Given the description of an element on the screen output the (x, y) to click on. 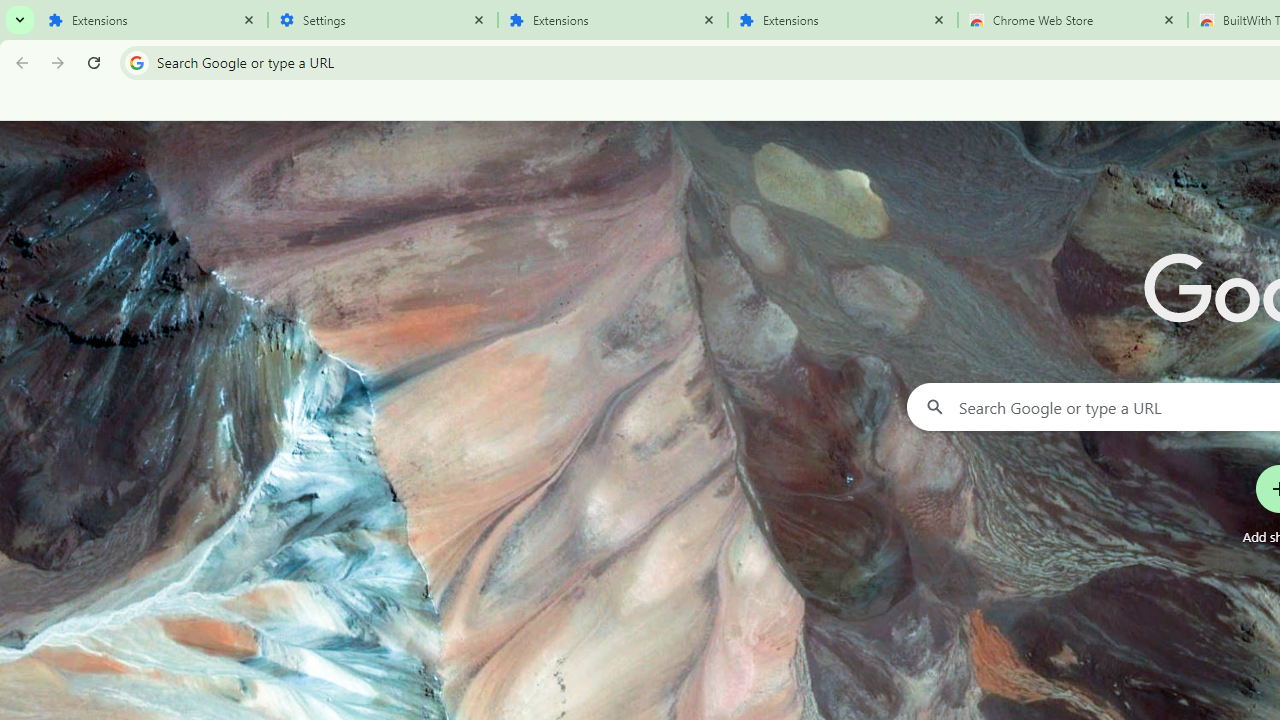
Extensions (612, 20)
Extensions (842, 20)
Chrome Web Store (1072, 20)
Settings (382, 20)
Extensions (152, 20)
